Given the description of an element on the screen output the (x, y) to click on. 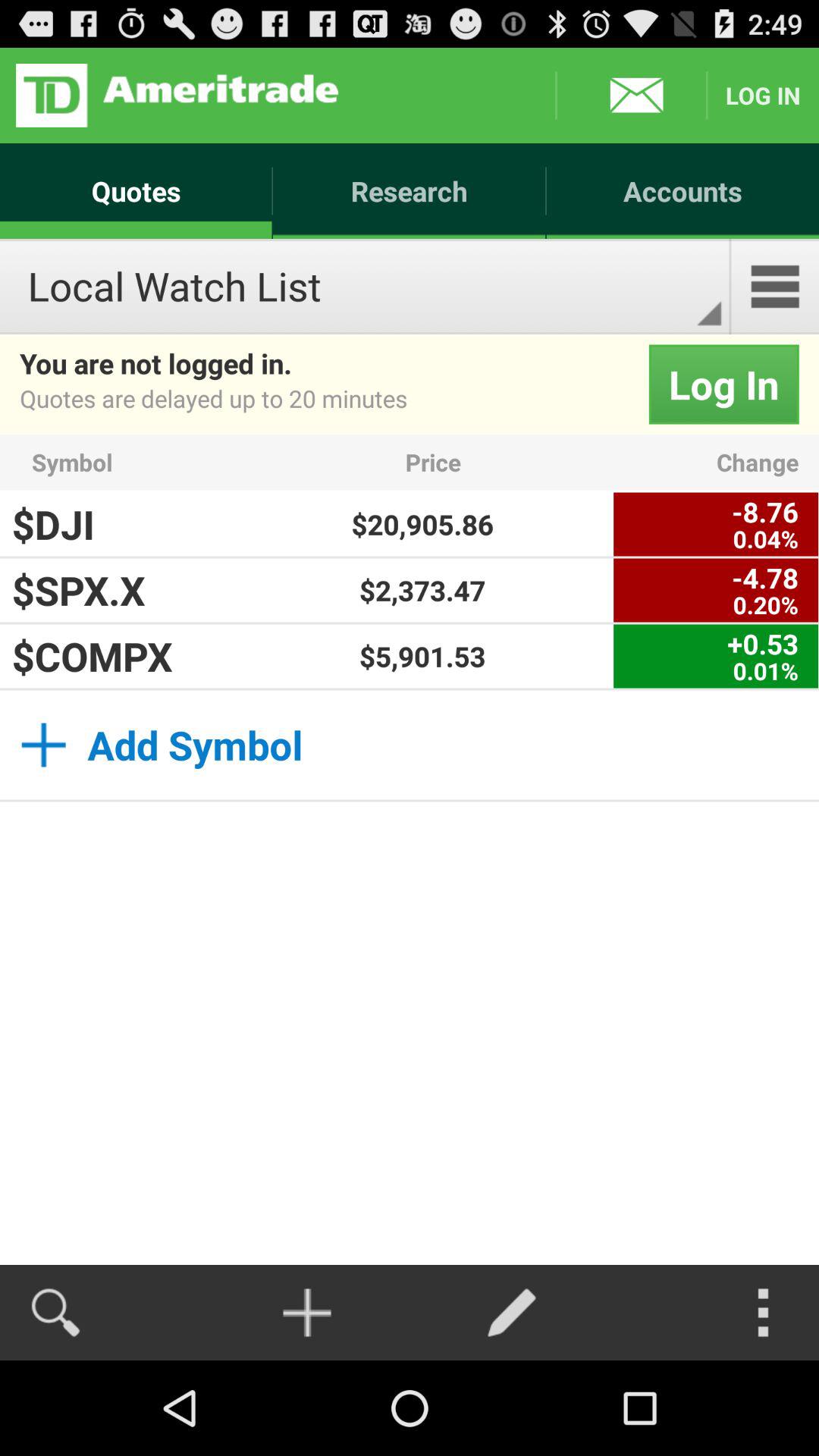
turn off item to the left of the $5,901.53 item (111, 655)
